Given the description of an element on the screen output the (x, y) to click on. 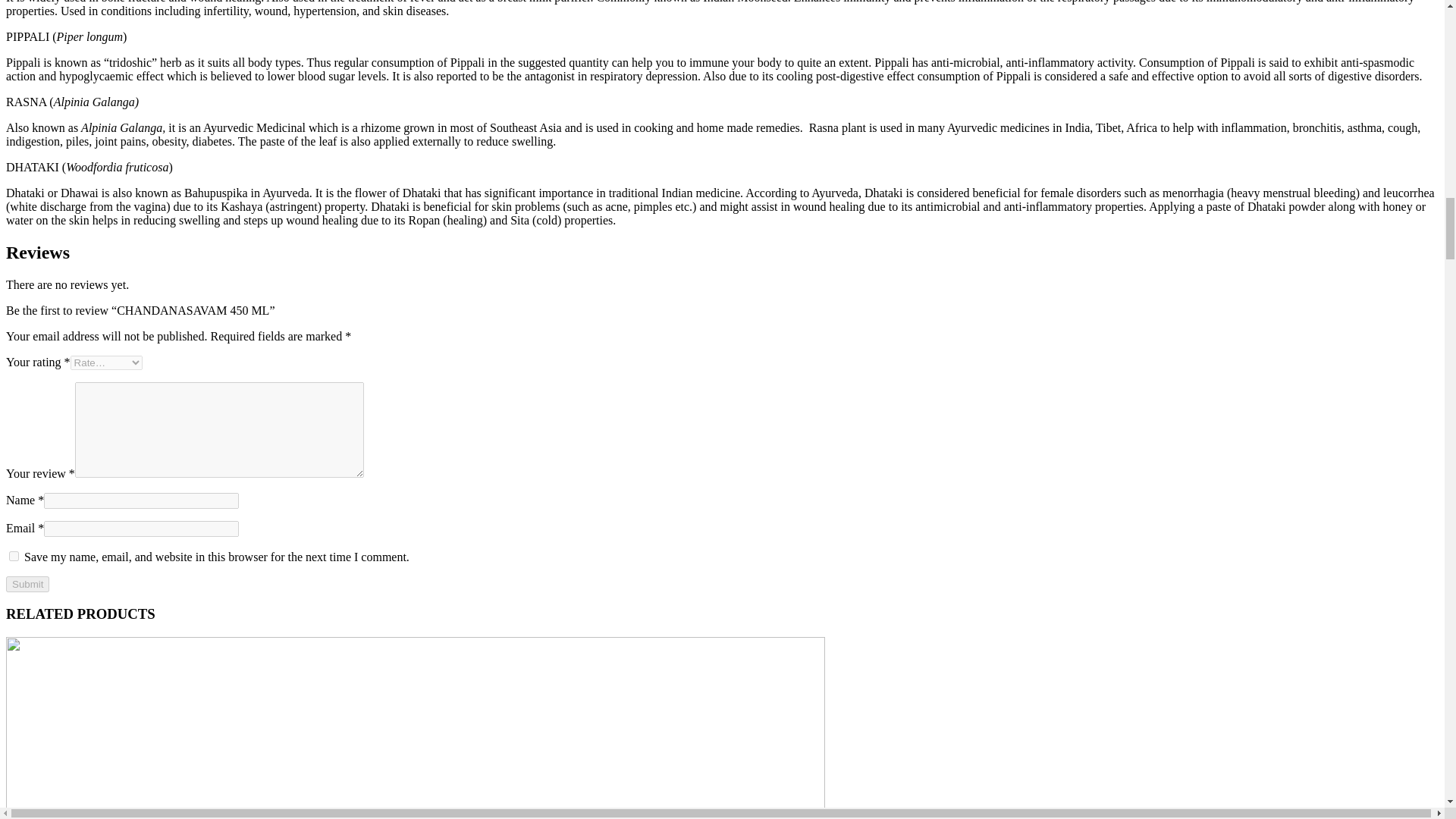
yes (13, 555)
Submit (27, 584)
